Given the description of an element on the screen output the (x, y) to click on. 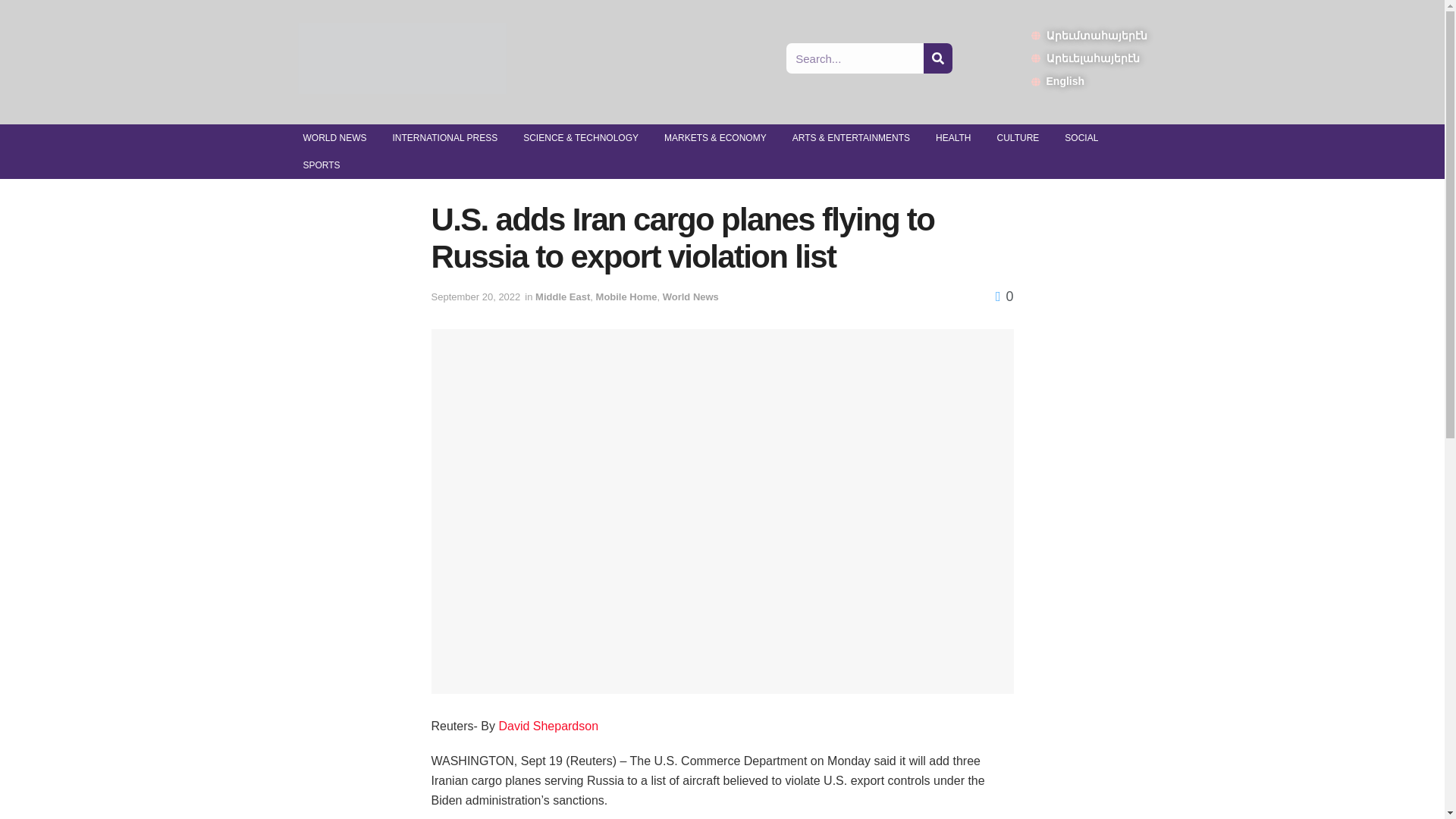
INTERNATIONAL PRESS (444, 137)
SPORTS (320, 165)
SOCIAL (1080, 137)
English (1088, 80)
WORLD NEWS (333, 137)
0 (1004, 296)
HEALTH (953, 137)
September 20, 2022 (474, 296)
World News (690, 296)
Middle East (562, 296)
